Given the description of an element on the screen output the (x, y) to click on. 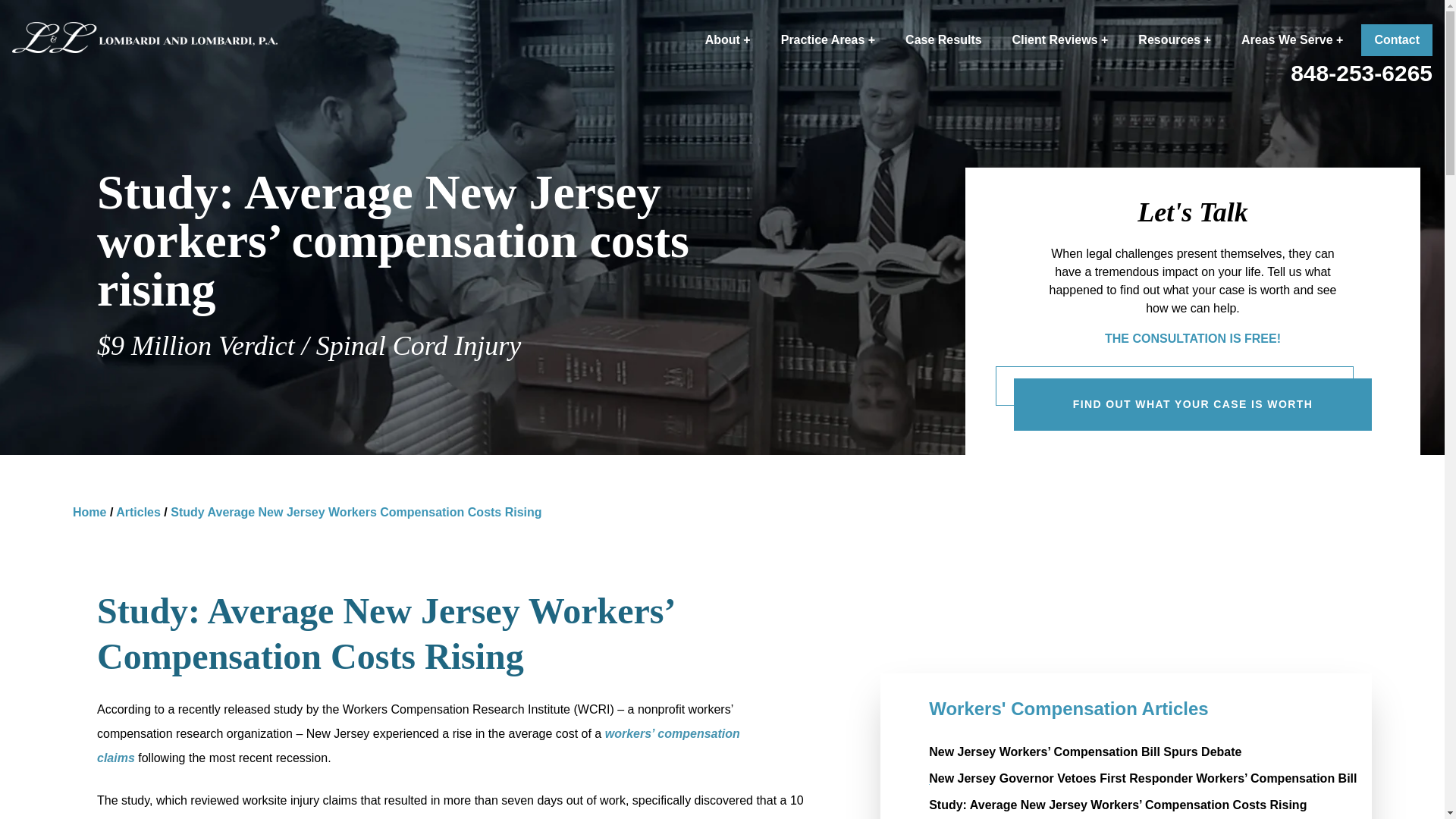
About (727, 40)
Practice Areas (827, 40)
